Given the description of an element on the screen output the (x, y) to click on. 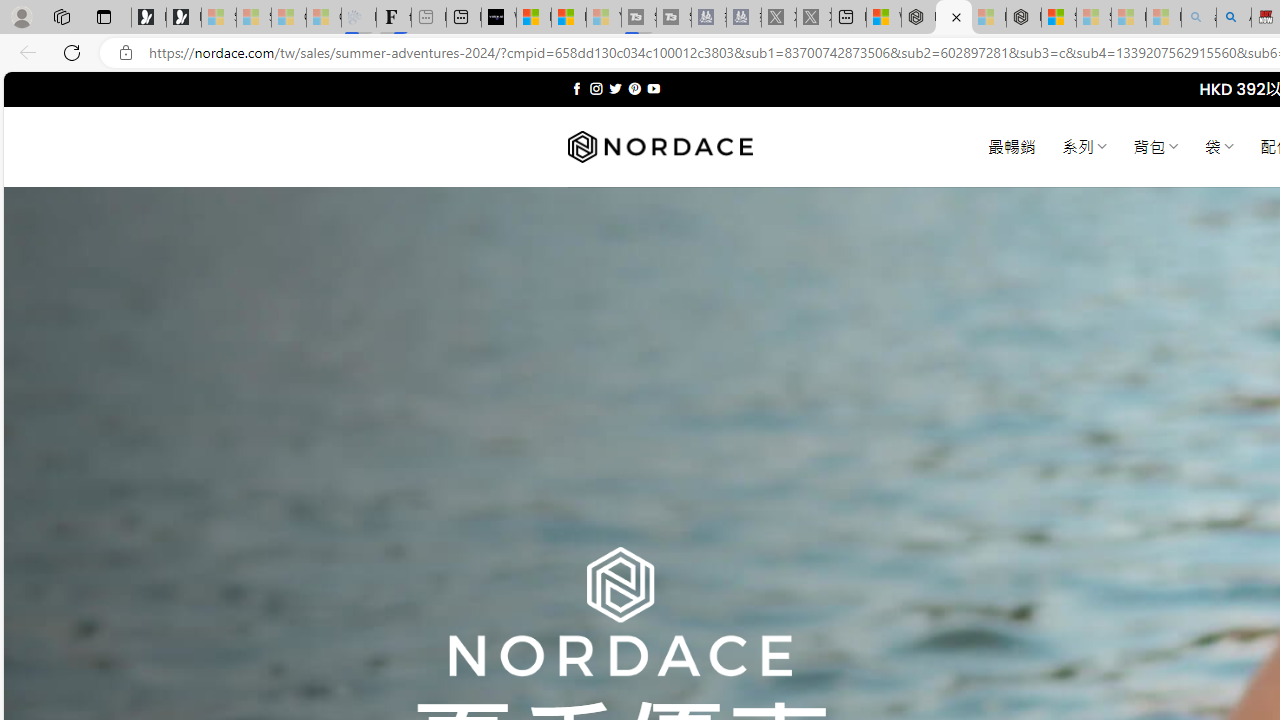
amazon - Search - Sleeping (1198, 17)
X - Sleeping (813, 17)
Microsoft Start Sports (534, 17)
New tab - Sleeping (428, 17)
Nordace - Nordace Siena Is Not An Ordinary Backpack (1023, 17)
Streaming Coverage | T3 - Sleeping (639, 17)
